Given the description of an element on the screen output the (x, y) to click on. 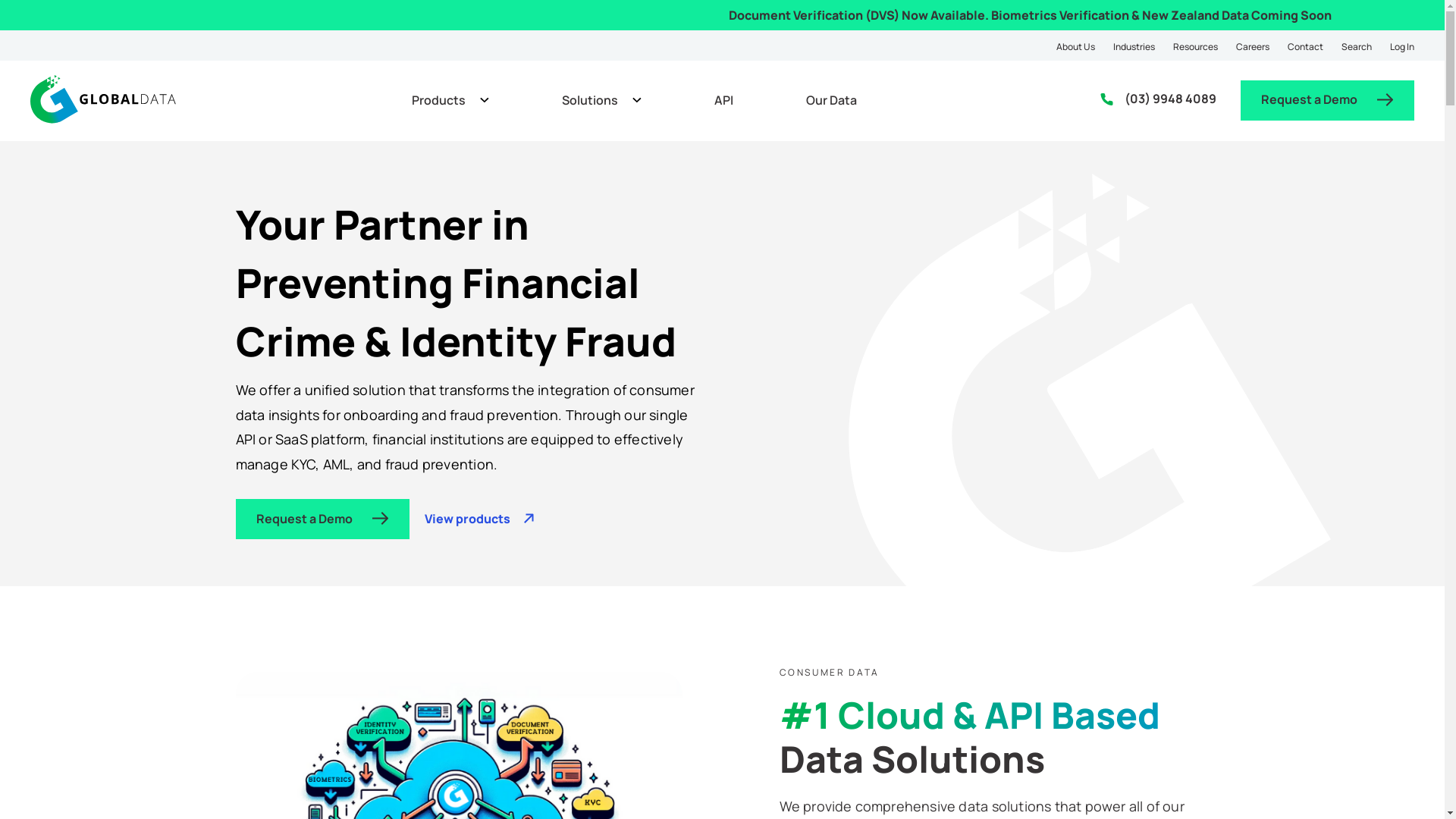
Request a Demo Element type: text (321, 518)
View products Element type: text (479, 518)
Products Element type: text (450, 99)
Solutions Element type: text (601, 99)
(03) 9948 4089 Element type: text (1158, 98)
Resources Element type: text (1195, 45)
About Us Element type: text (1075, 45)
Request a Demo Element type: text (1327, 100)
Log In Element type: text (1402, 45)
Contact Element type: text (1305, 45)
Careers Element type: text (1252, 45)
API Element type: text (723, 99)
Our Data Element type: text (831, 99)
Industries Element type: text (1133, 45)
Search Element type: text (1356, 45)
